Given the description of an element on the screen output the (x, y) to click on. 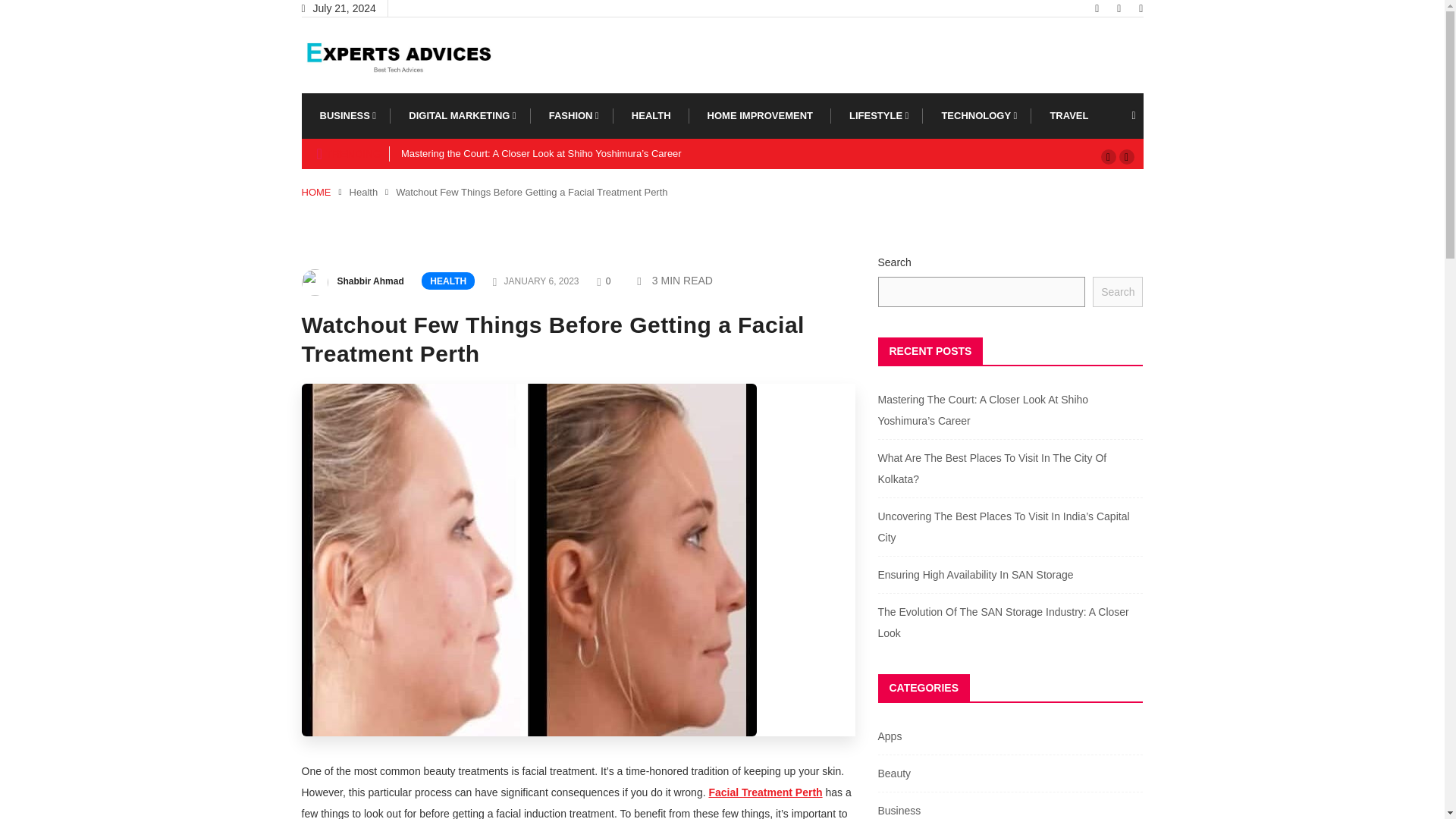
HEALTH (448, 280)
FASHION (571, 115)
LIFESTYLE (876, 115)
DIGITAL MARKETING (460, 115)
HOME (316, 192)
BUSINESS (346, 115)
Facial Treatment Perth (764, 792)
Shabbir Ahmad (369, 281)
HOME IMPROVEMENT (759, 115)
TECHNOLOGY (976, 115)
